Given the description of an element on the screen output the (x, y) to click on. 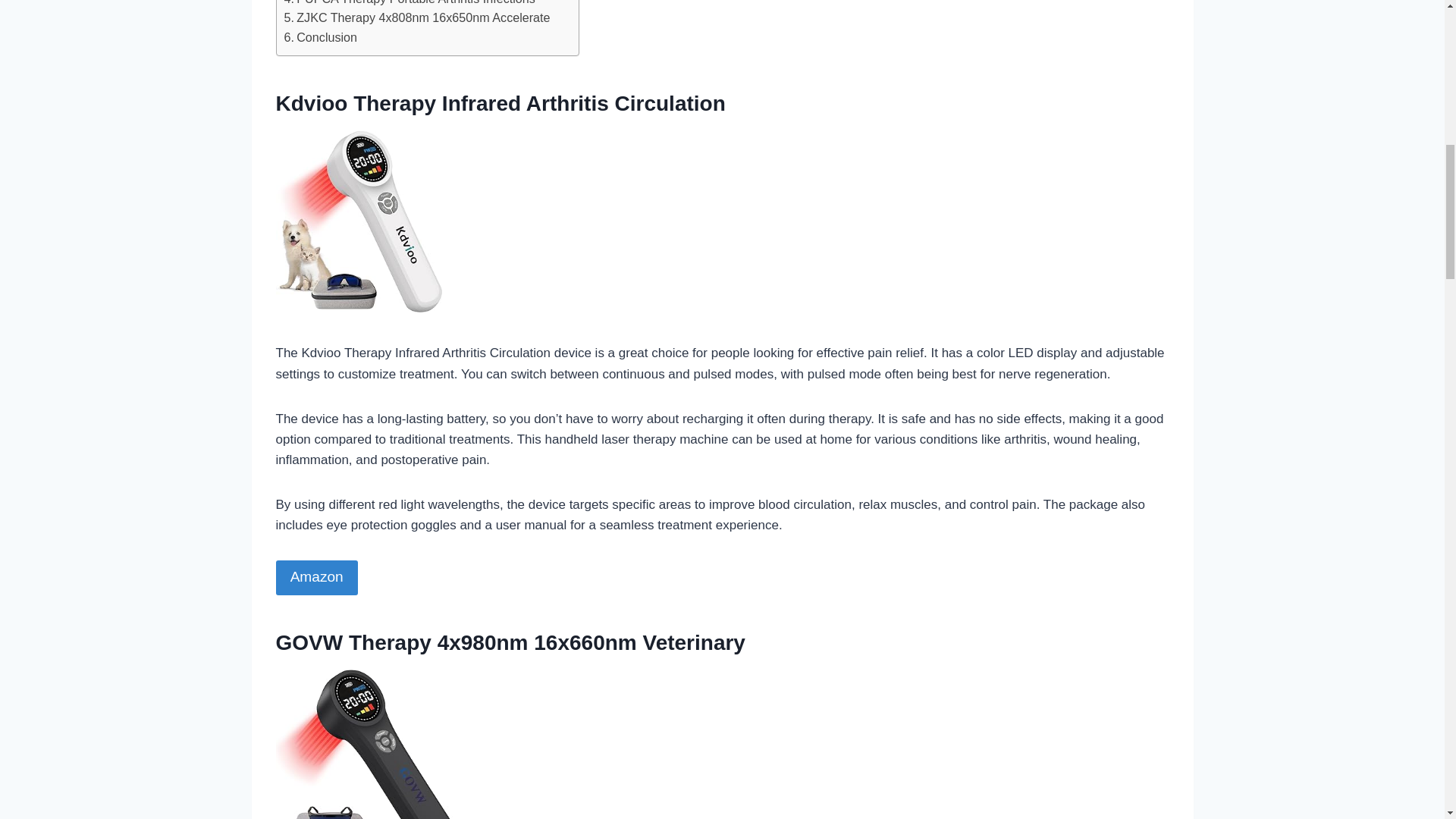
PUPCA Therapy Portable Arthritis Infections (408, 4)
ZJKC Therapy 4x808nm 16x650nm Accelerate (416, 17)
Conclusion (319, 37)
PUPCA Therapy Portable Arthritis Infections (408, 4)
Amazon (317, 577)
ZJKC Therapy 4x808nm 16x650nm Accelerate (416, 17)
Conclusion (319, 37)
